Given the description of an element on the screen output the (x, y) to click on. 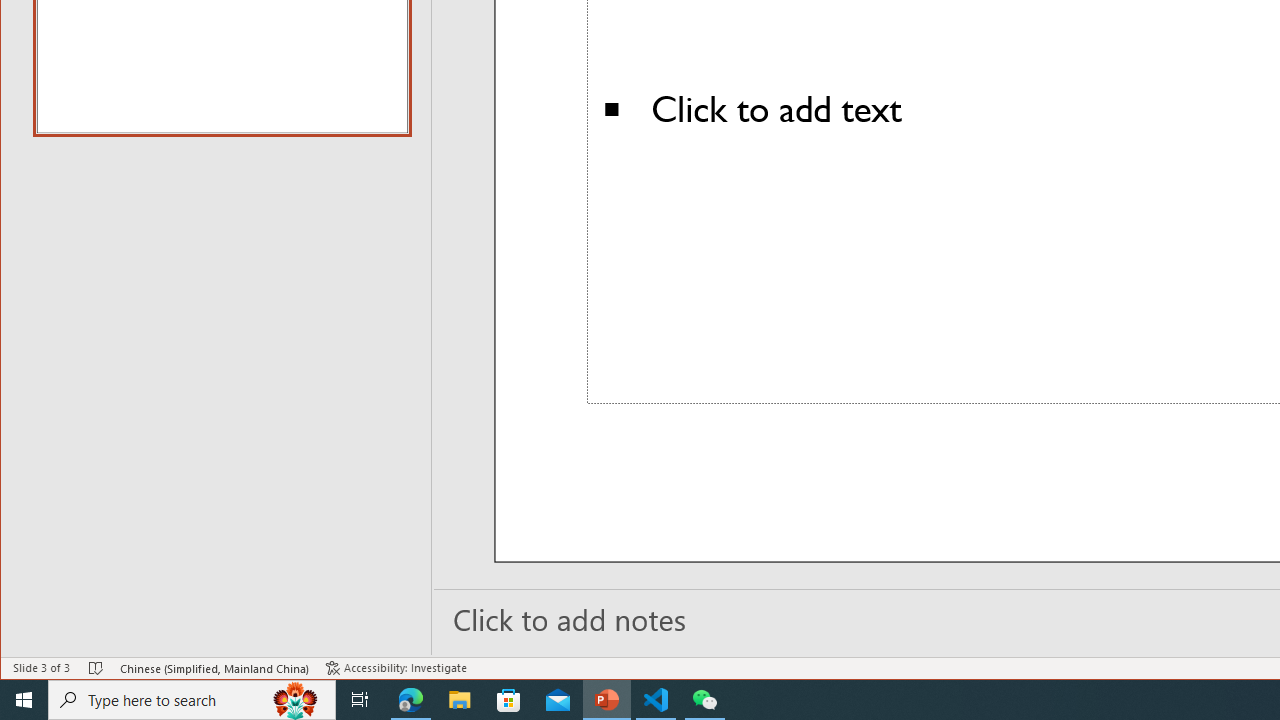
Microsoft Edge - 1 running window (411, 699)
WeChat - 1 running window (704, 699)
Accessibility Checker Accessibility: Investigate (395, 668)
Search highlights icon opens search home window (295, 699)
File Explorer (460, 699)
Start (24, 699)
Task View (359, 699)
Microsoft Store (509, 699)
Type here to search (191, 699)
PowerPoint - 1 running window (607, 699)
Visual Studio Code - 1 running window (656, 699)
Spell Check No Errors (96, 668)
